Given the description of an element on the screen output the (x, y) to click on. 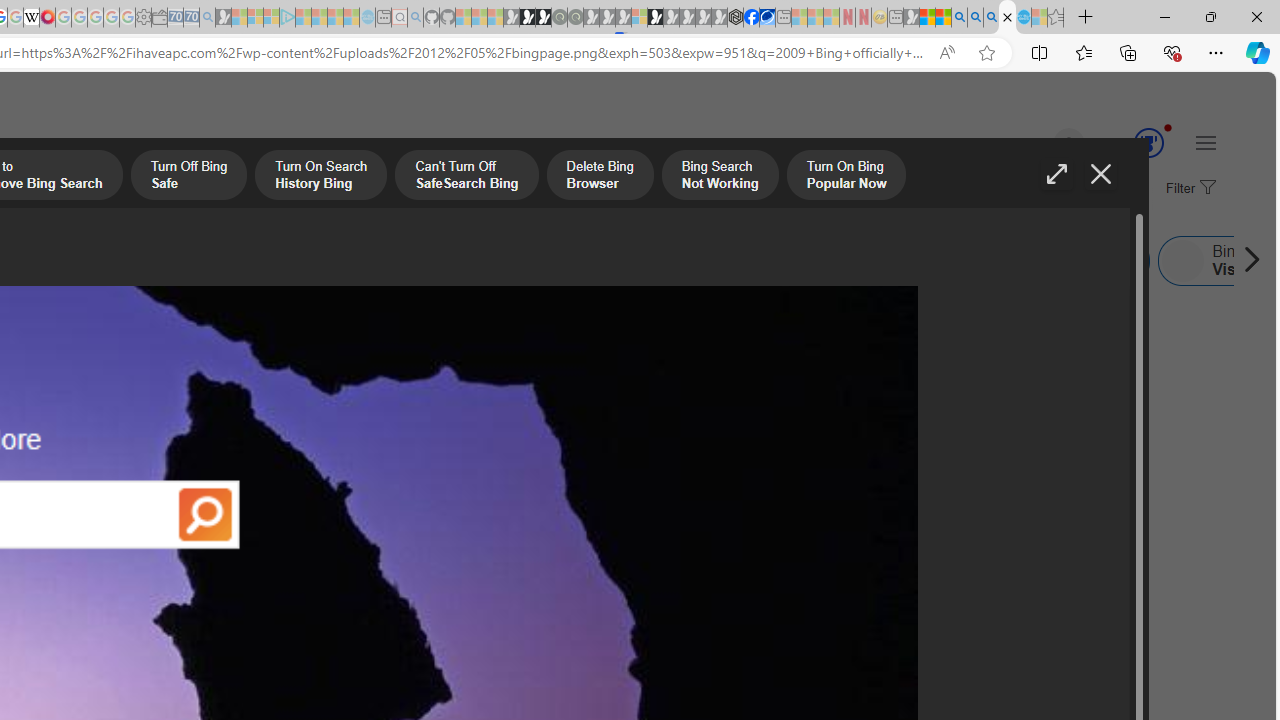
Https Bing Search Q MSN (822, 260)
Bing Image Search Similar Images (416, 260)
MSN - Sleeping (911, 17)
Bing Logo, symbol, meaning, history, PNG, brandSave (694, 417)
Bing Logo, symbol, meaning, history, PNG, brand (695, 508)
Bing Image Search Similar Images (292, 260)
